Given the description of an element on the screen output the (x, y) to click on. 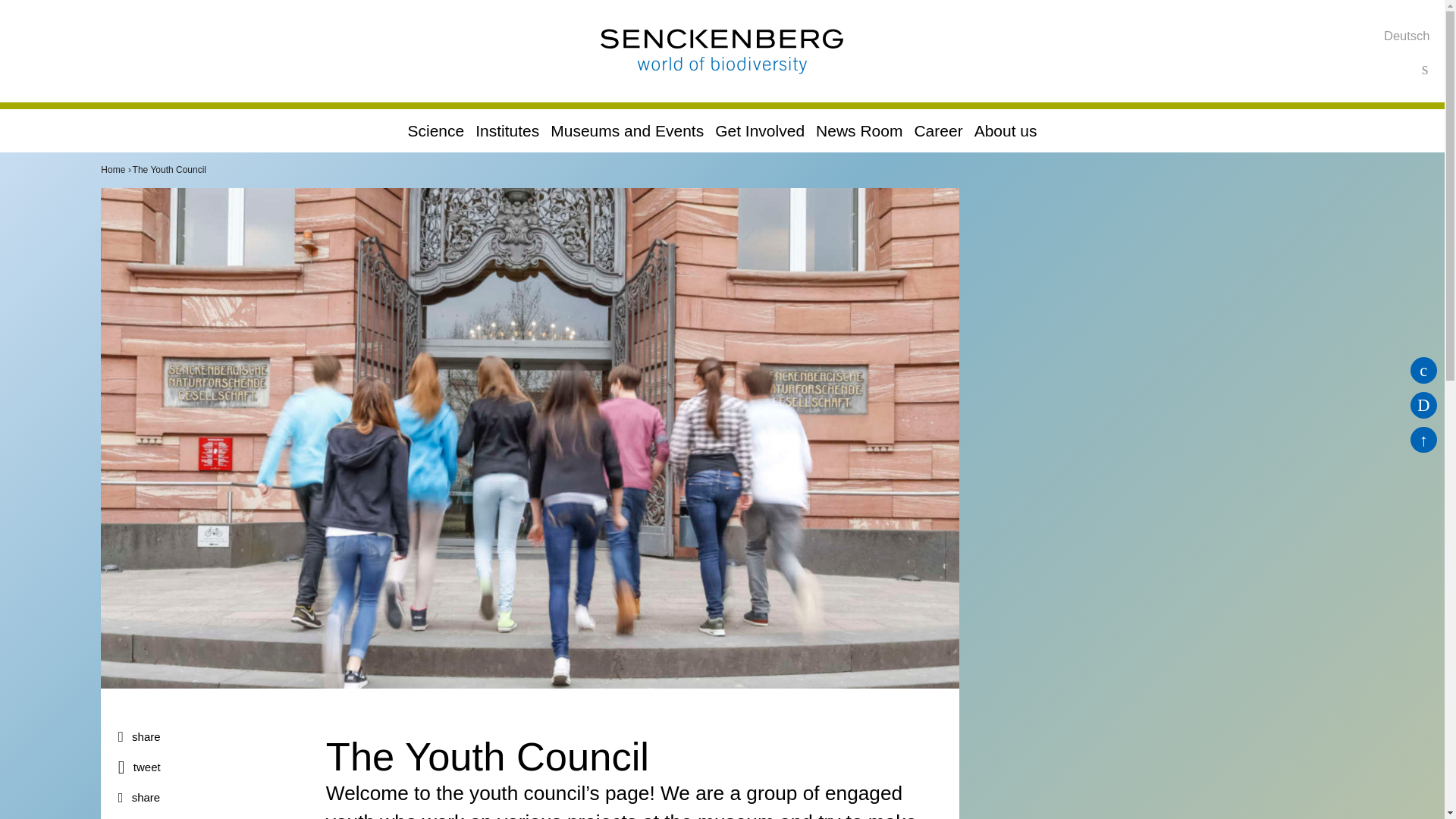
Deutsch (1406, 35)
Share on Facebook (212, 736)
Share on Twitter (212, 766)
Science (435, 130)
Send by email (212, 797)
